Given the description of an element on the screen output the (x, y) to click on. 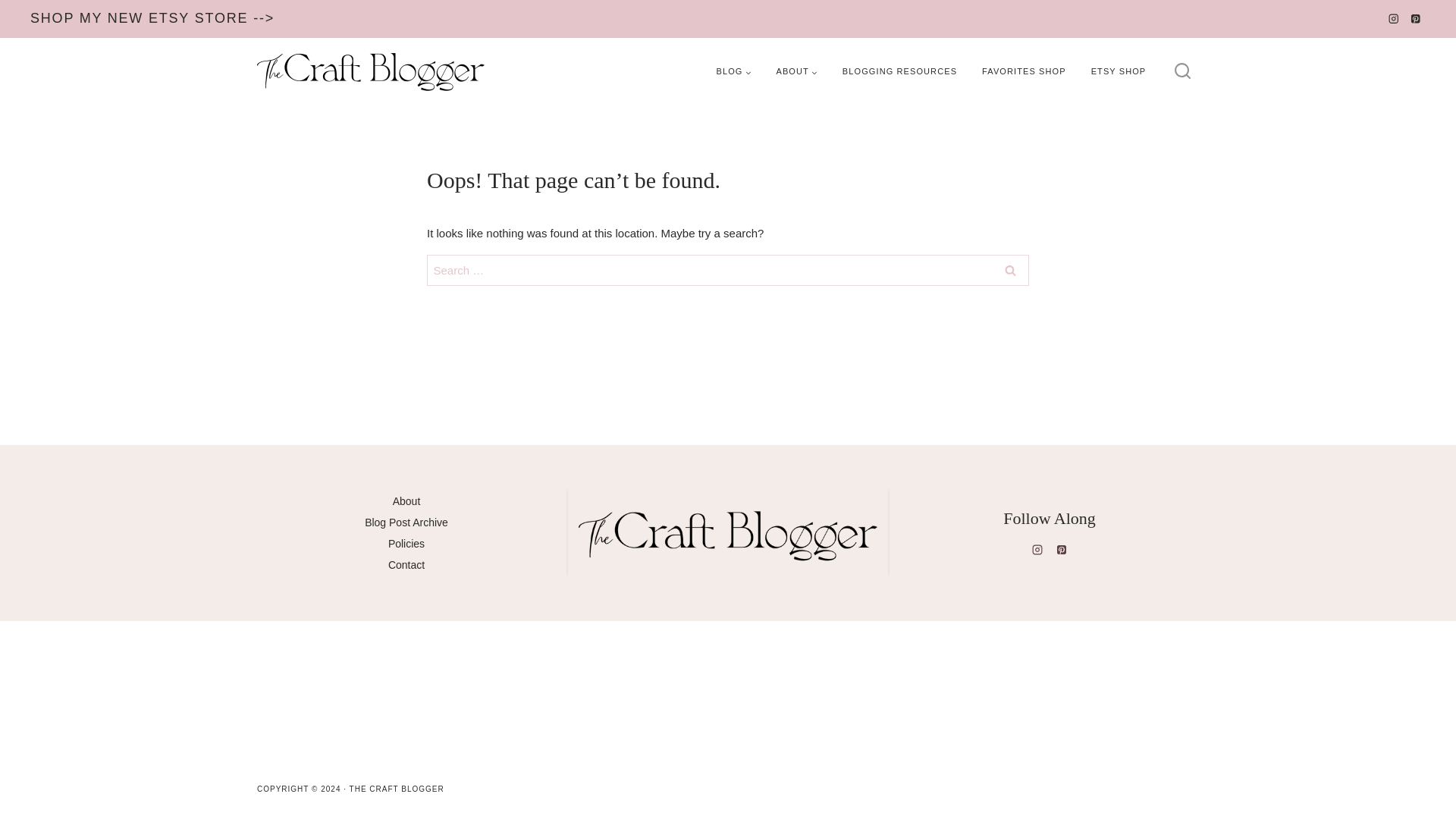
BLOGGING RESOURCES (899, 71)
ETSY SHOP (1118, 71)
FAVORITES SHOP (1023, 71)
ABOUT (795, 71)
About (406, 500)
Search (1010, 269)
Search (1010, 269)
Search (1010, 269)
BLOG (732, 71)
Policies (406, 543)
Contact (406, 564)
Blog Post Archive (406, 522)
